Given the description of an element on the screen output the (x, y) to click on. 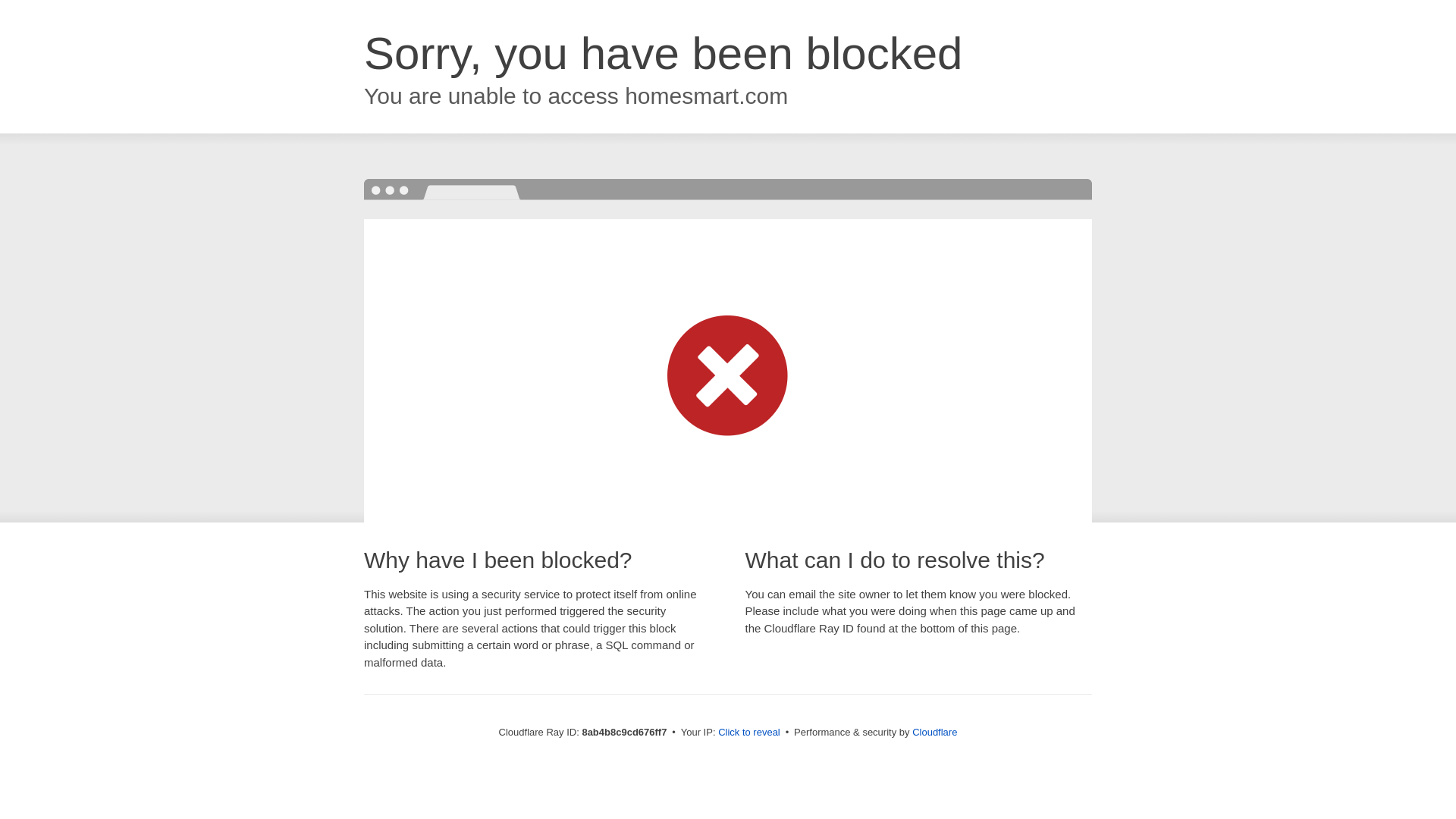
Click to reveal (748, 732)
Cloudflare (934, 731)
